Given the description of an element on the screen output the (x, y) to click on. 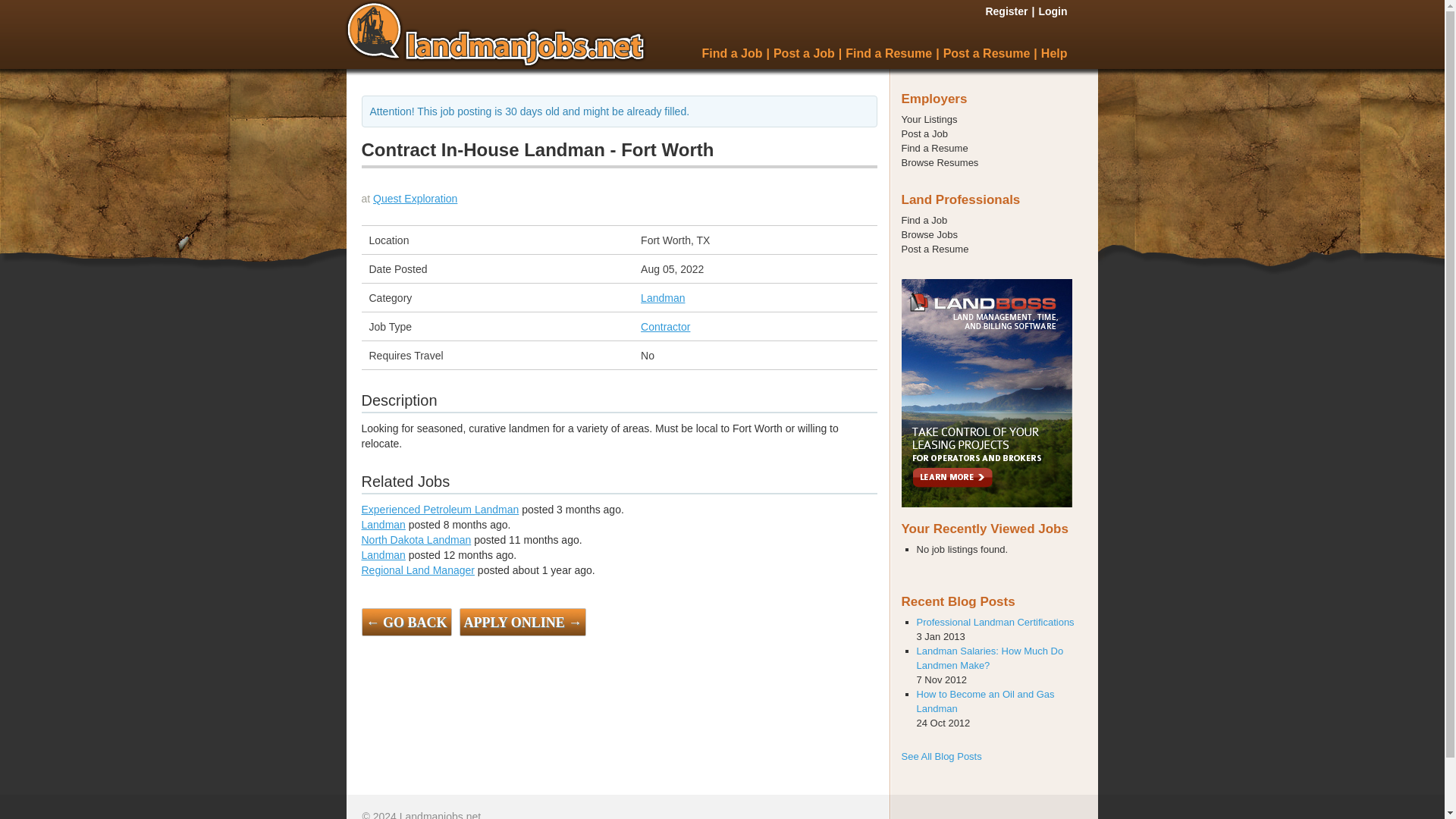
Contractor (665, 326)
Help (1054, 52)
Landman (382, 524)
Landman Salaries: How Much Do Landmen Make? (988, 657)
Find a Job (731, 52)
Landman (382, 554)
Find a Resume (934, 147)
Landman (662, 297)
Login (1052, 10)
Register (1006, 10)
North Dakota Landman (415, 539)
Post a Job (924, 133)
Post a Resume (934, 248)
Permanent link to How to Become an Oil and Gas Landman (984, 701)
